Given the description of an element on the screen output the (x, y) to click on. 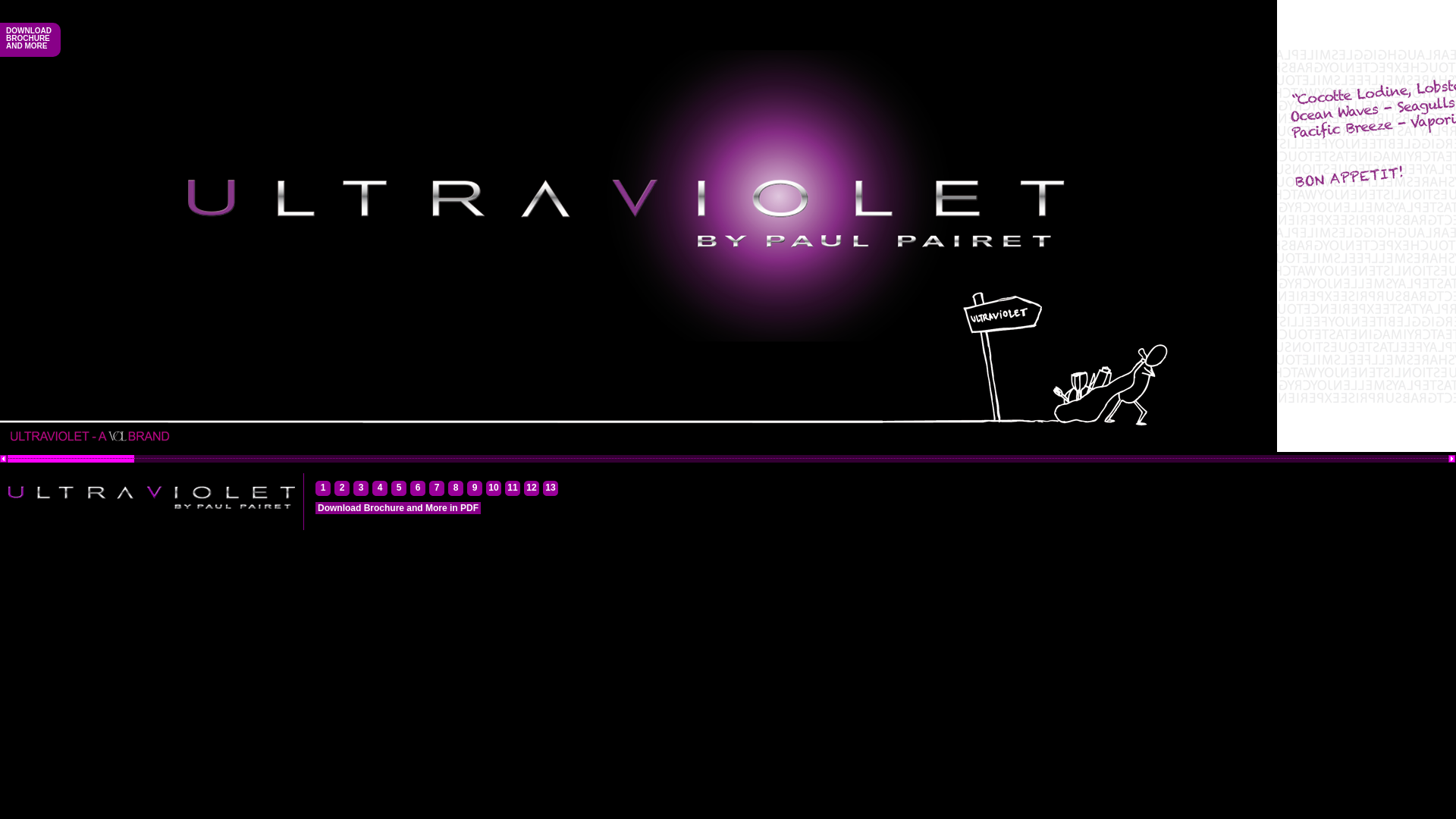
8 Element type: text (455, 488)
3 Element type: text (360, 488)
6 Element type: text (417, 488)
13 Element type: text (550, 488)
Scroll Left Element type: text (3, 458)
DOWNLOAD BROCHURE
AND MORE Element type: text (28, 38)
12 Element type: text (531, 488)
2 Element type: text (341, 488)
4 Element type: text (379, 488)
1 Element type: text (322, 488)
Download Brochure and More in PDF Element type: text (397, 508)
7 Element type: text (436, 488)
10 Element type: text (493, 488)
5 Element type: text (398, 488)
11 Element type: text (512, 488)
9 Element type: text (474, 488)
